Given the description of an element on the screen output the (x, y) to click on. 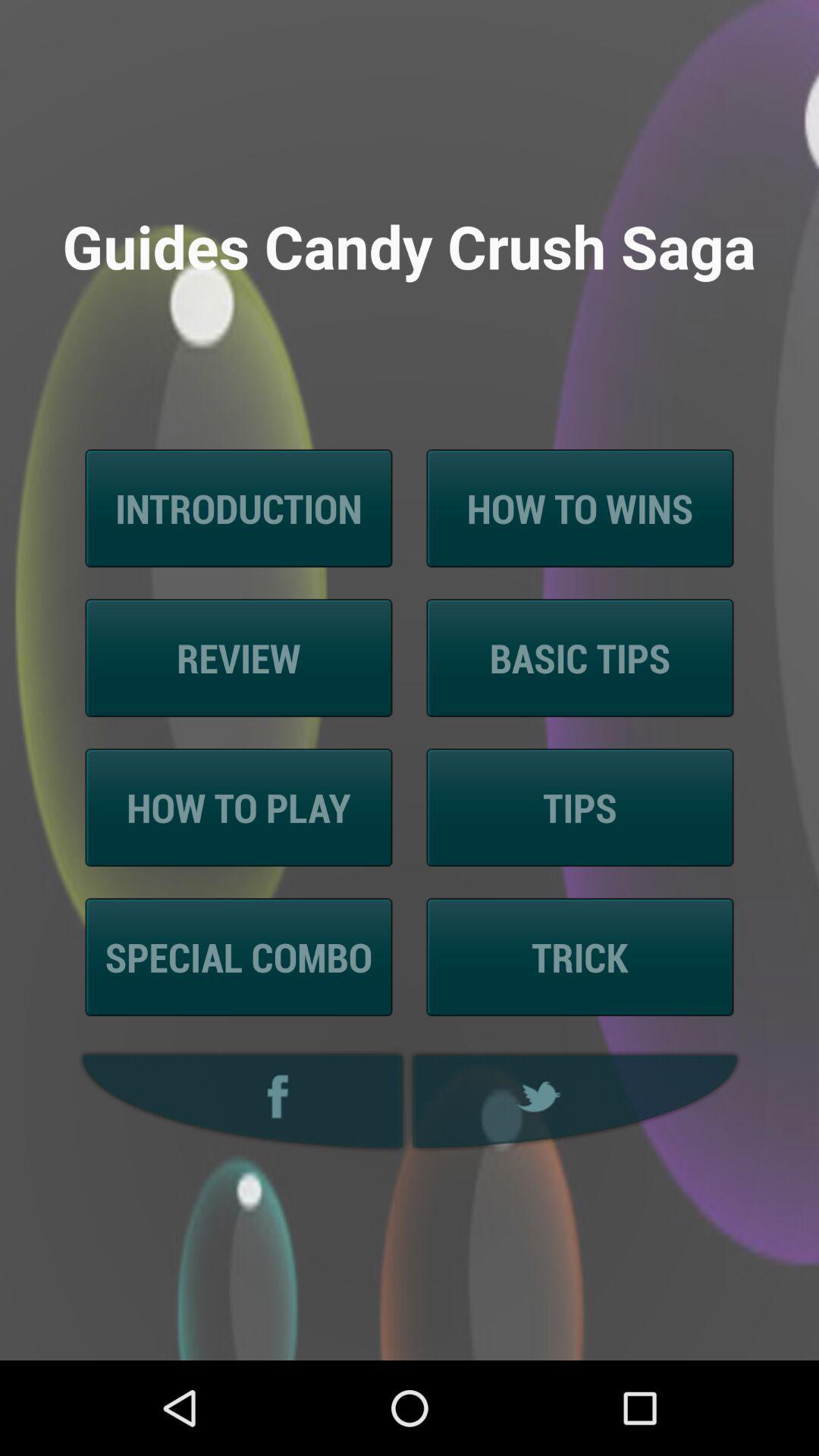
share to facebook (238, 1101)
